Given the description of an element on the screen output the (x, y) to click on. 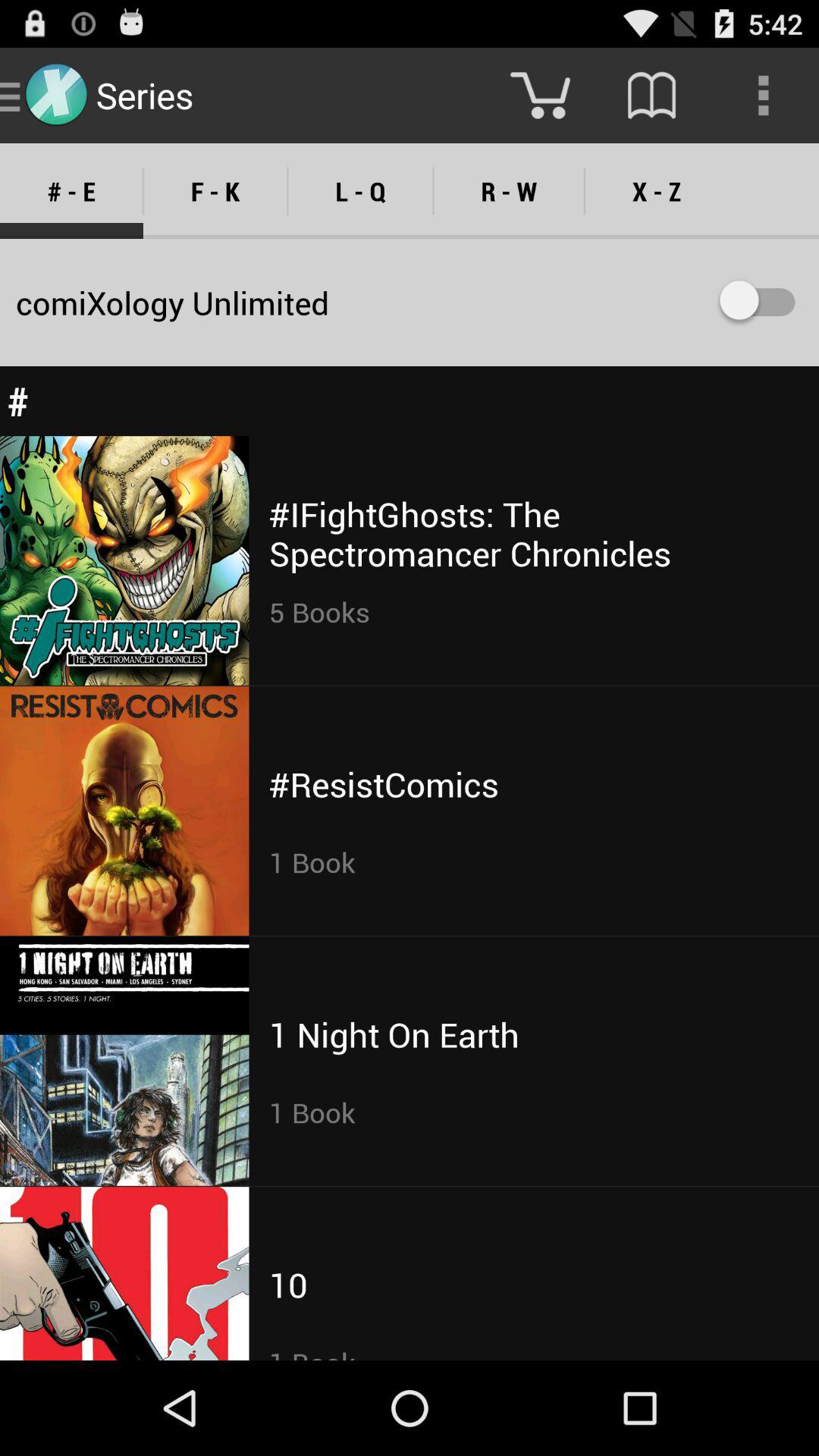
launch item above the 1 book (394, 1034)
